Given the description of an element on the screen output the (x, y) to click on. 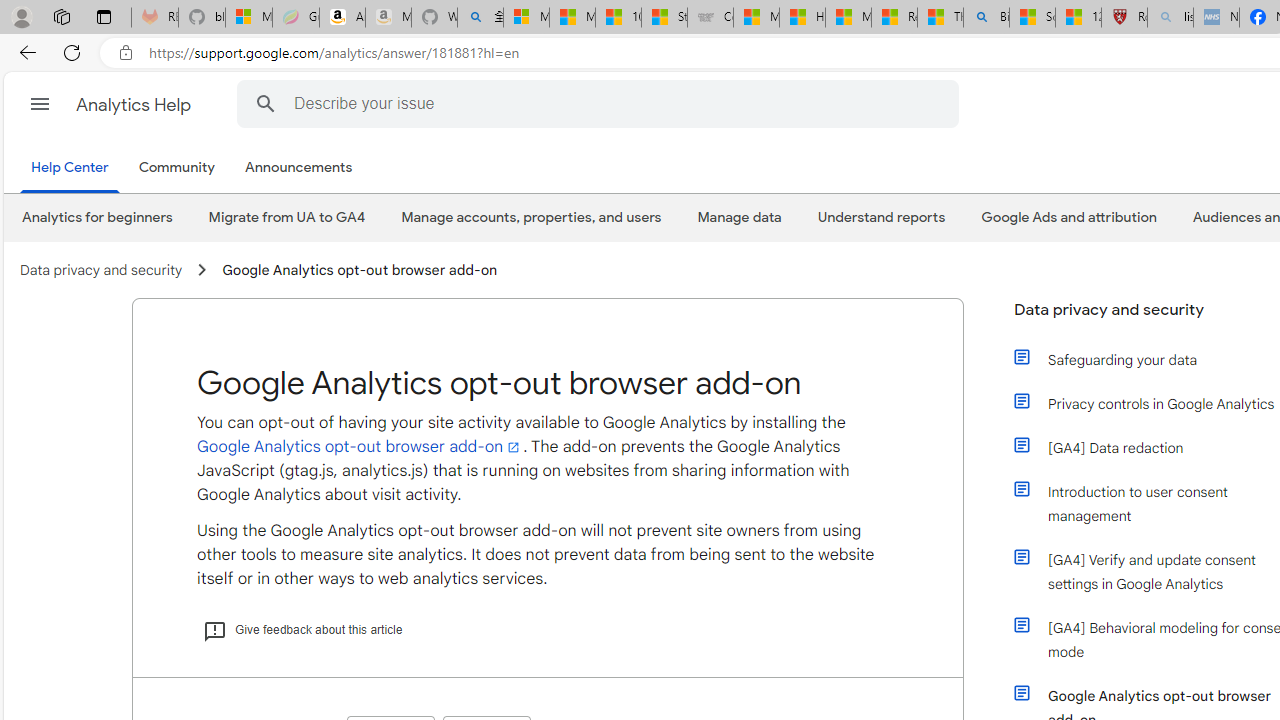
Describe your issue (600, 103)
Analytics Help (134, 104)
Announcements (298, 168)
Search Help Center (265, 103)
Google Ads and attribution (1068, 217)
Help Center (74, 168)
Community (176, 168)
